Given the description of an element on the screen output the (x, y) to click on. 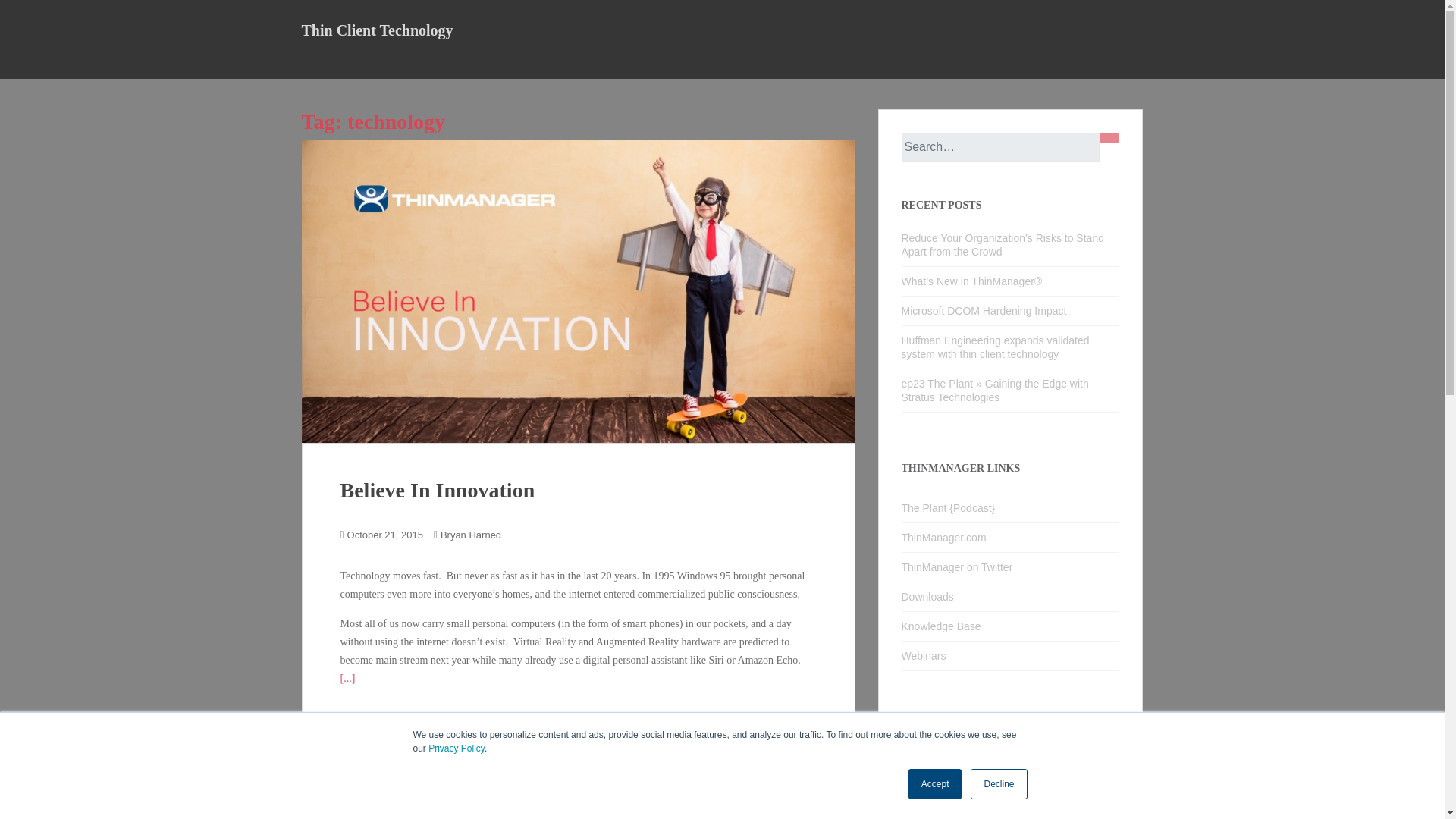
Accept (935, 784)
Microsoft DCOM Hardening Impact (983, 310)
Cost Savings (943, 816)
Bryan Harned (470, 534)
Search for: (1000, 146)
October 21, 2015 (385, 534)
ThinManager.com (1010, 537)
App Story (935, 789)
